Given the description of an element on the screen output the (x, y) to click on. 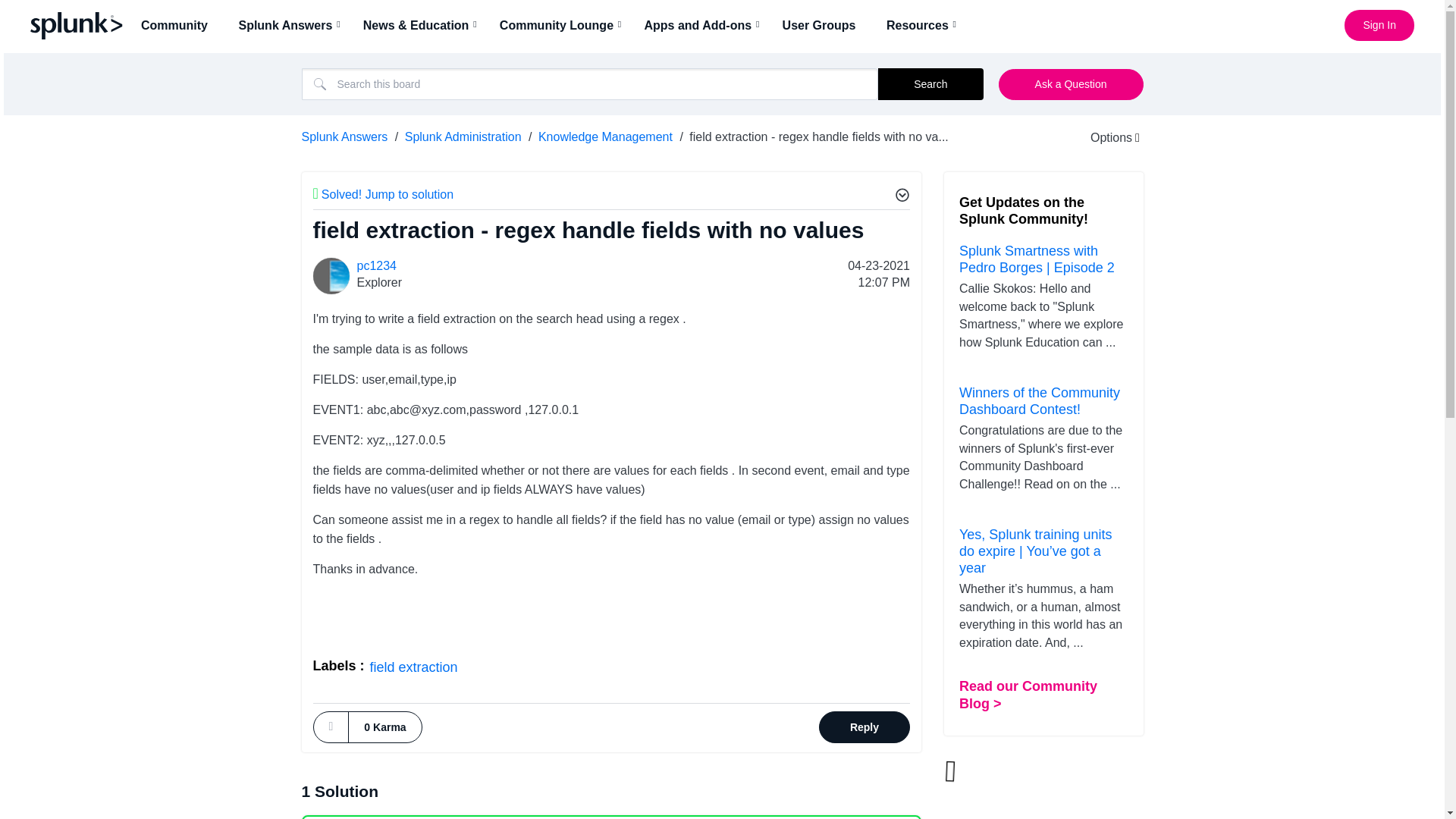
Search (929, 83)
Show option menu (1105, 137)
Splunk Answers (289, 25)
Community (178, 25)
Search (929, 83)
Search (590, 83)
